Given the description of an element on the screen output the (x, y) to click on. 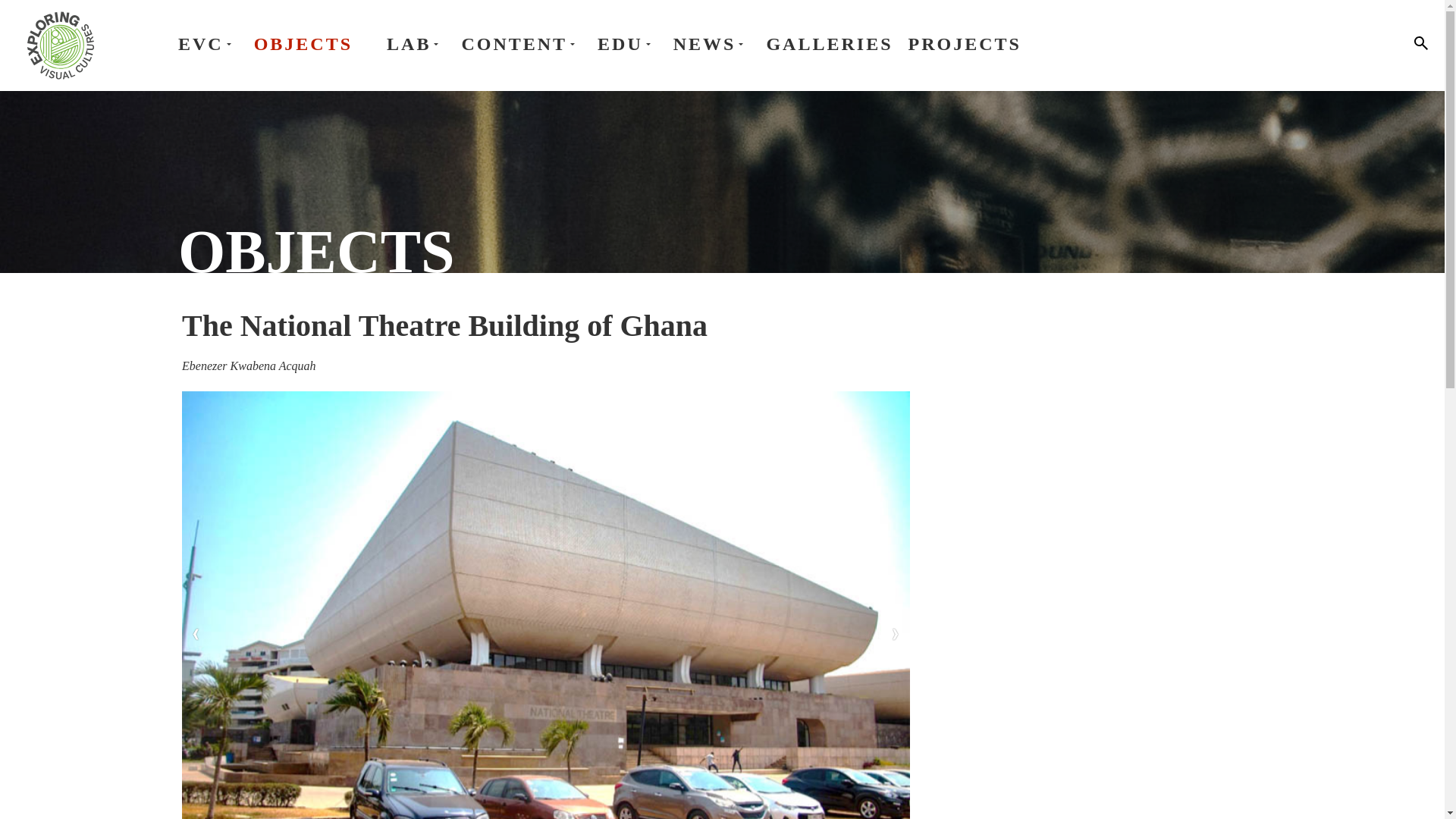
exploring visual cultures (60, 45)
PROJECTS (965, 43)
OBJECTS (302, 43)
CONTENT (521, 43)
NEWS (711, 43)
EDU (627, 43)
EVC (207, 43)
GALLERIES (828, 43)
LAB (416, 43)
